Given the description of an element on the screen output the (x, y) to click on. 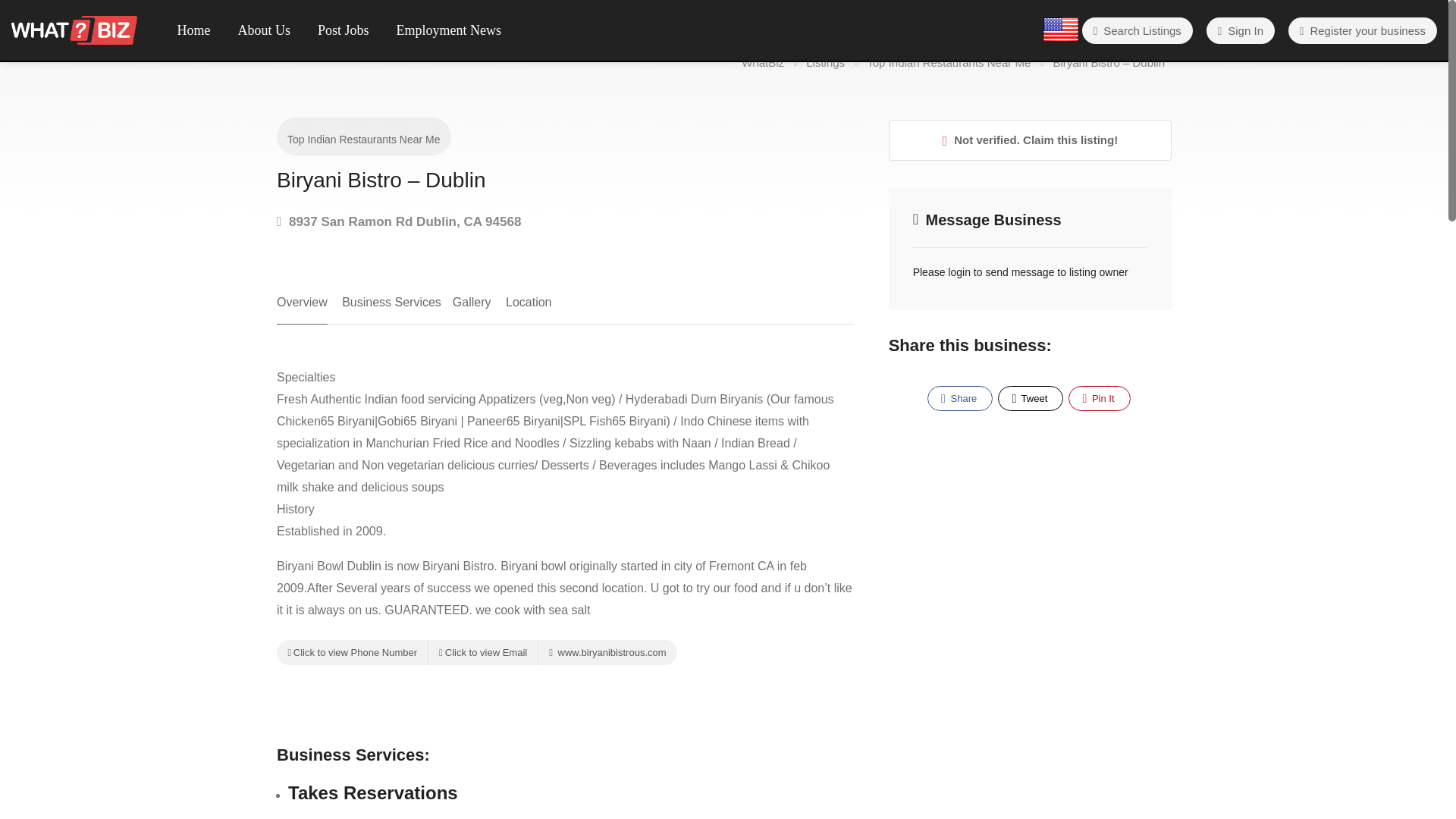
Employment News (448, 30)
Search Listings (1136, 30)
Go to Listings. (826, 62)
Click to view Phone Number (352, 652)
Top Indian Restaurants Near Me (949, 62)
Click to view Email (482, 652)
About Us (264, 30)
Go to WhatBiz. (763, 62)
Gallery (472, 307)
Top Indian Restaurants Near Me (363, 139)
Go to the Top Indian Restaurants Near Me Category archives. (949, 62)
Post Jobs (342, 30)
Twitter (1029, 398)
WhatBiz (73, 29)
Overview (301, 307)
